Given the description of an element on the screen output the (x, y) to click on. 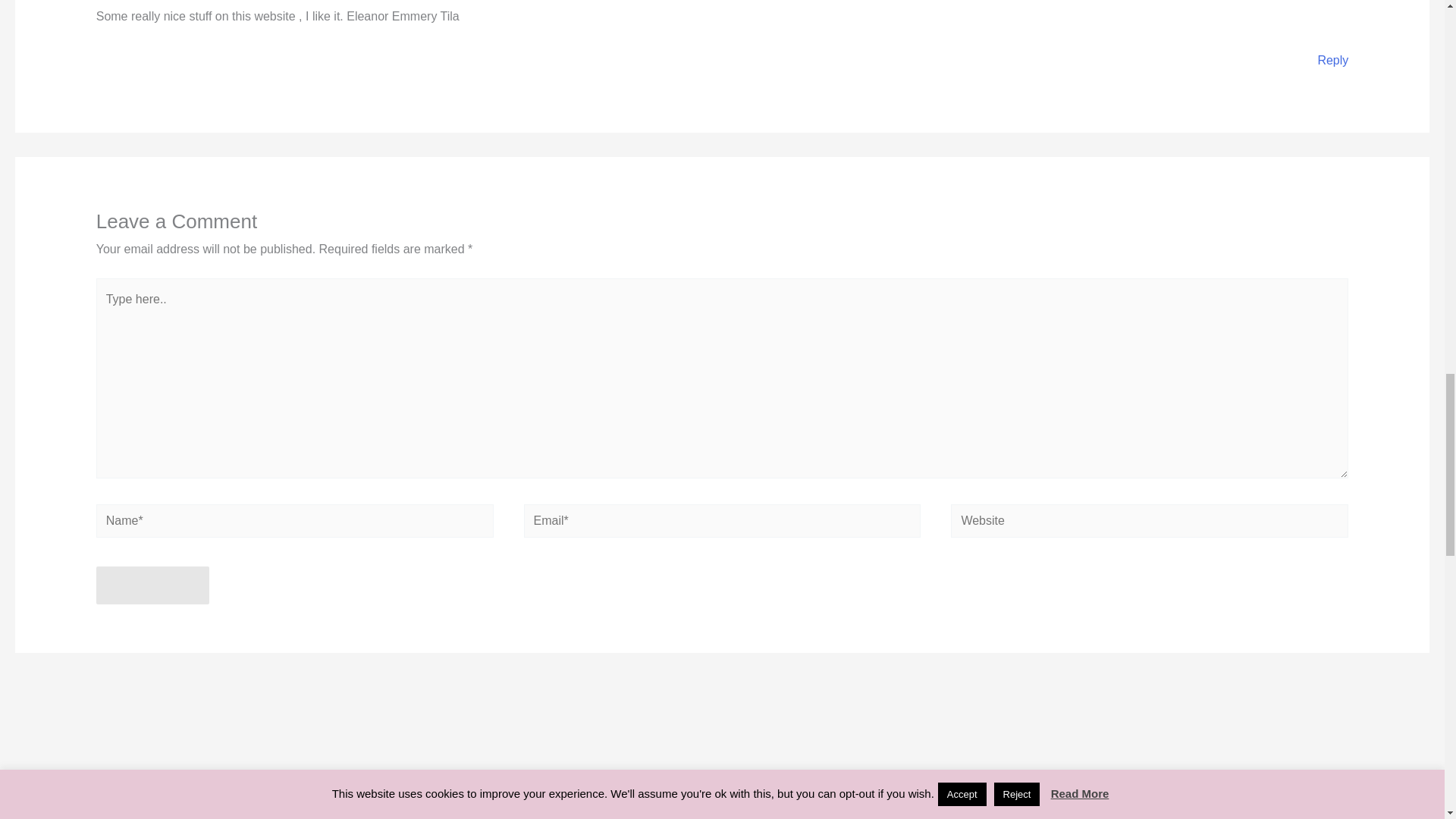
Reply (1332, 60)
